Given the description of an element on the screen output the (x, y) to click on. 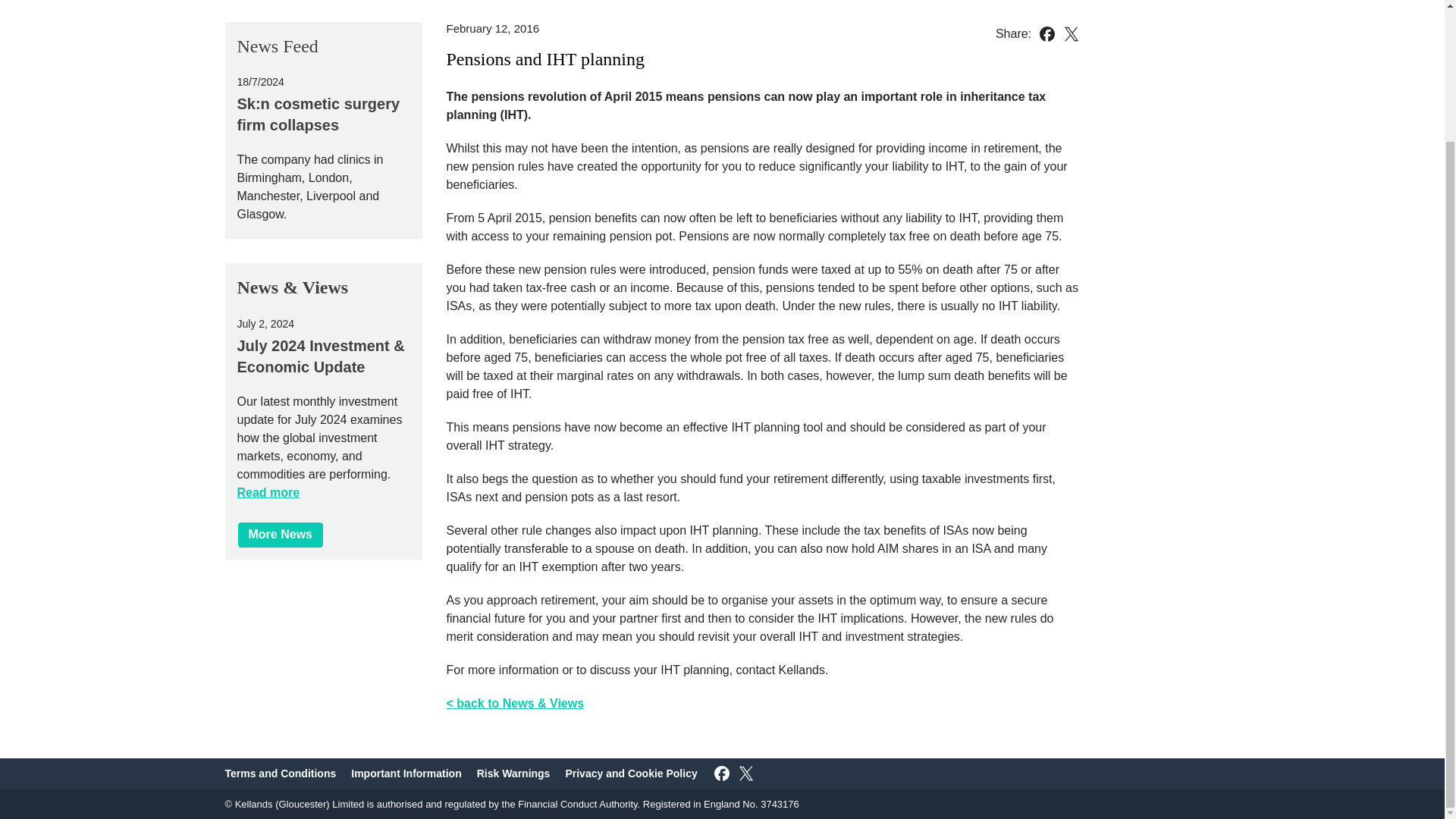
Follow  on X (745, 773)
Follow  on Facebook (721, 773)
